Given the description of an element on the screen output the (x, y) to click on. 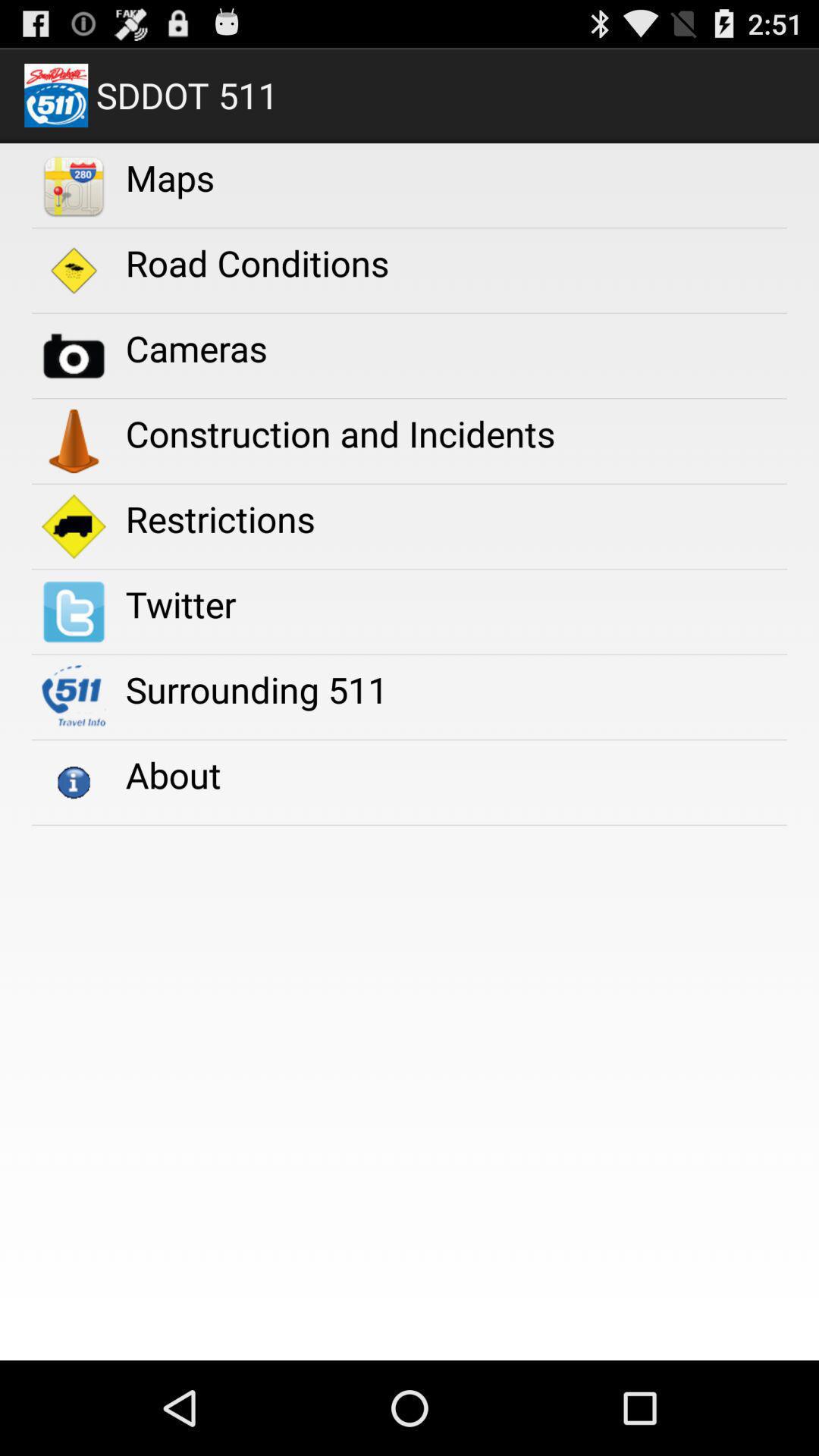
click restrictions icon (220, 518)
